Given the description of an element on the screen output the (x, y) to click on. 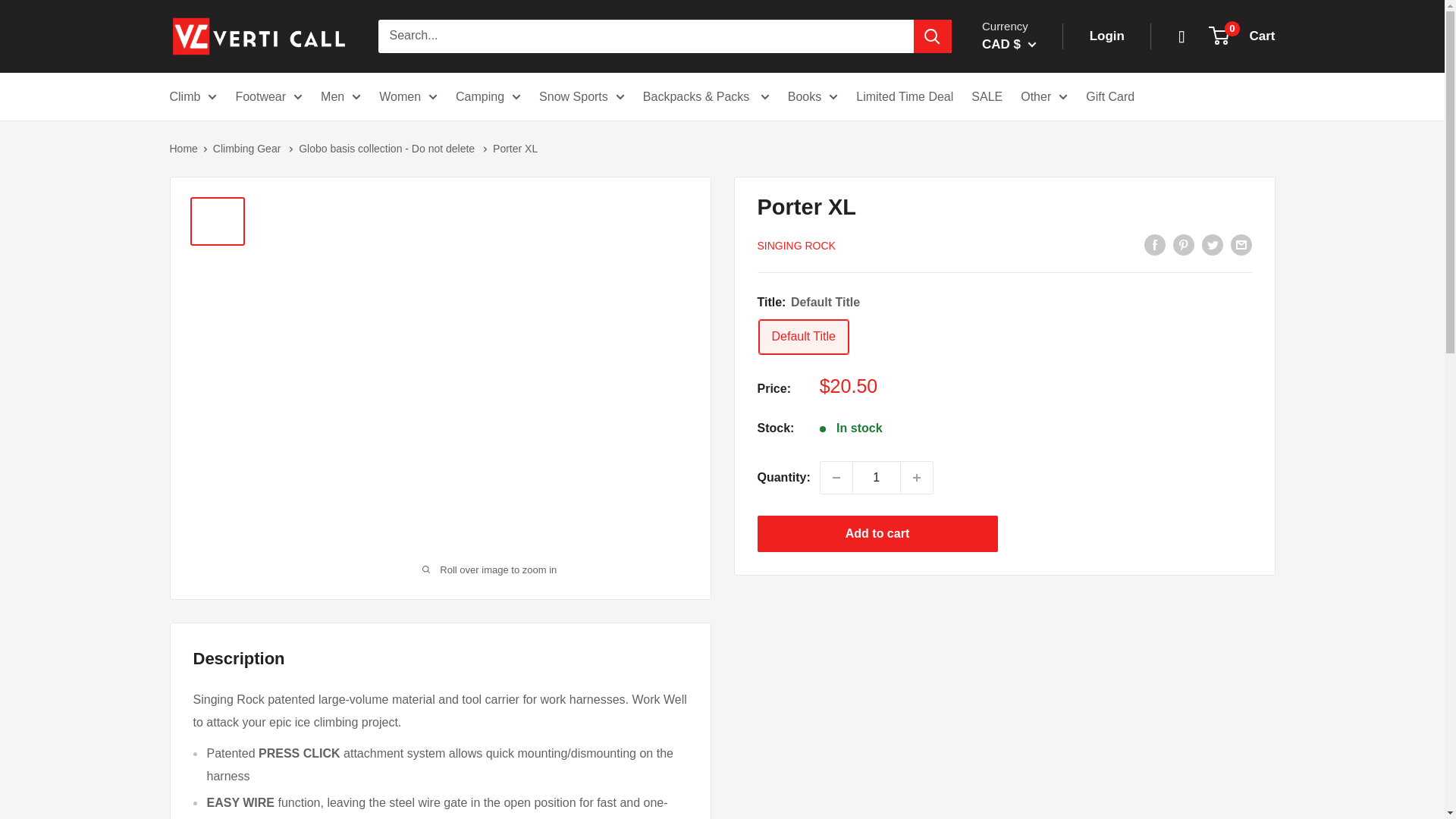
1 (876, 477)
Increase quantity by 1 (917, 477)
Default Title (802, 336)
Decrease quantity by 1 (836, 477)
